Given the description of an element on the screen output the (x, y) to click on. 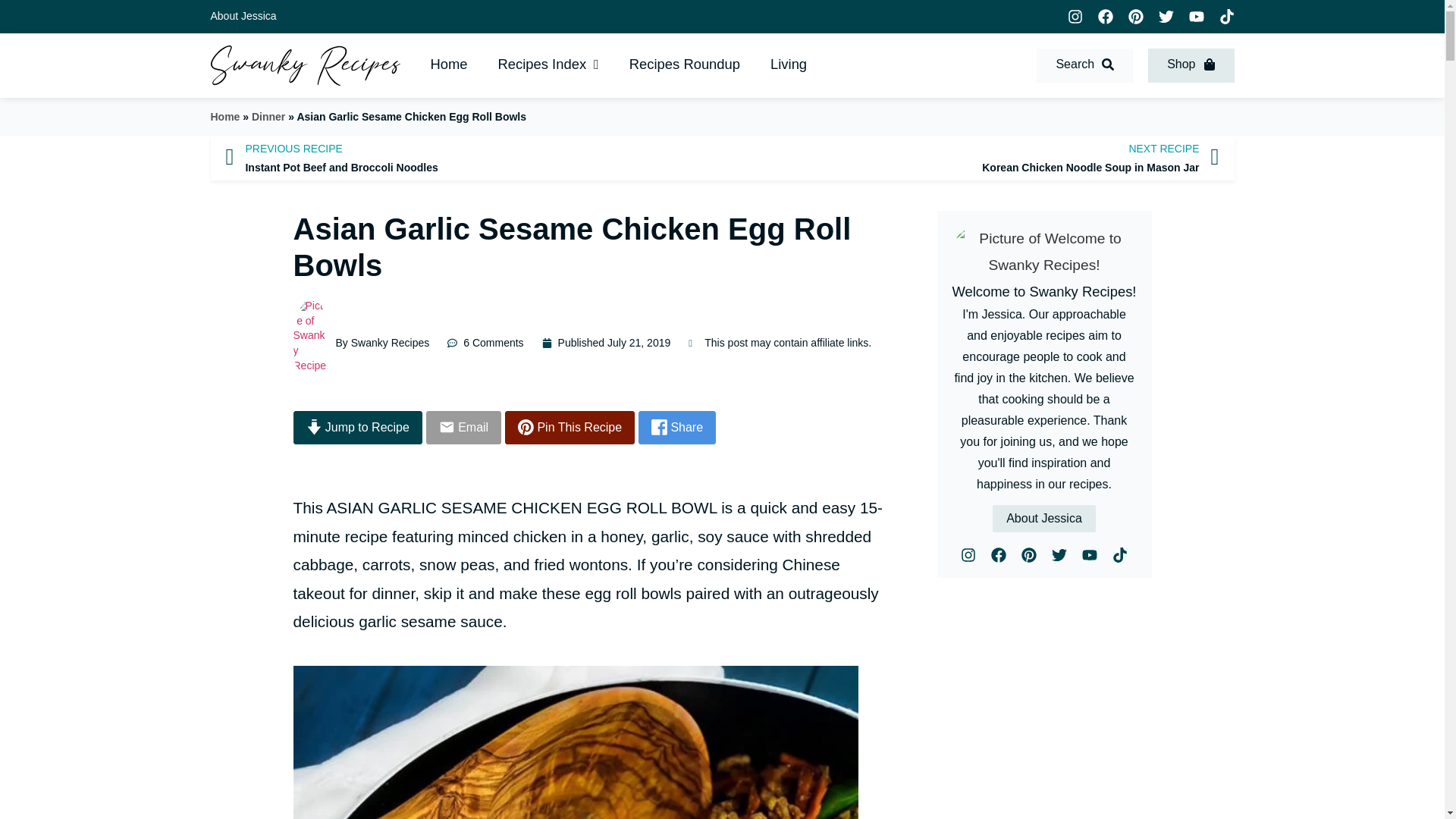
Asian Garlic Sesame Chicken Egg Roll Bowl (574, 742)
6 Comments (484, 343)
Recipes Index (548, 65)
Recipes Roundup (684, 65)
Pin This Recipe (569, 428)
Search (1084, 65)
About Jessica (243, 15)
Dinner (268, 116)
Jump to Recipe (459, 157)
Email (984, 157)
Living (357, 428)
Home (463, 428)
By Swanky Recipes (788, 65)
